Given the description of an element on the screen output the (x, y) to click on. 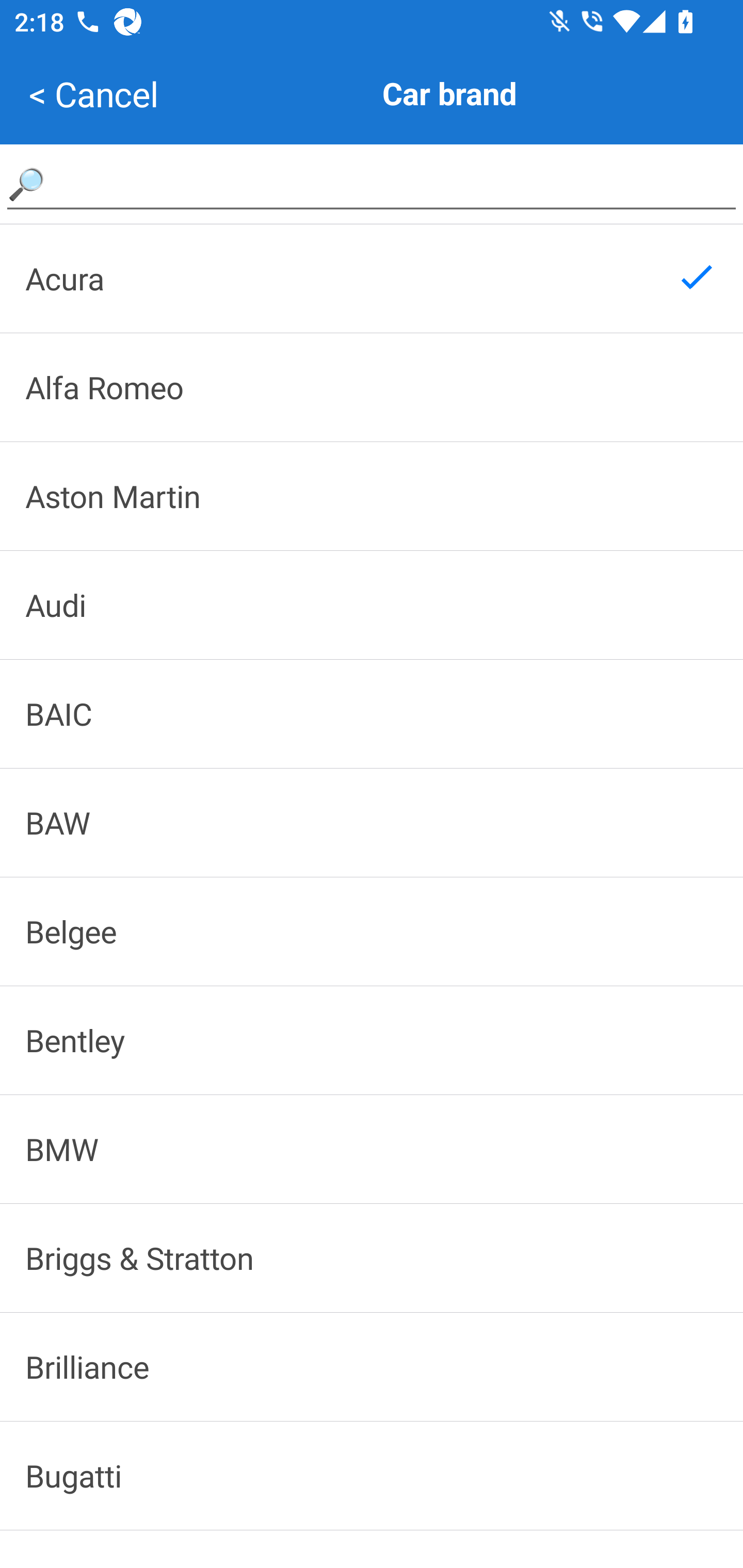
< Cancel (93, 93)
🔎 (371, 183)
Acura (371, 278)
Alfa Romeo (371, 387)
Aston Martin (371, 496)
Audi (371, 604)
BAIC (371, 714)
BAW (371, 822)
Belgee (371, 932)
Bentley (371, 1040)
BMW (371, 1148)
Briggs & Stratton (371, 1258)
Brilliance (371, 1366)
Bugatti (371, 1476)
